Given the description of an element on the screen output the (x, y) to click on. 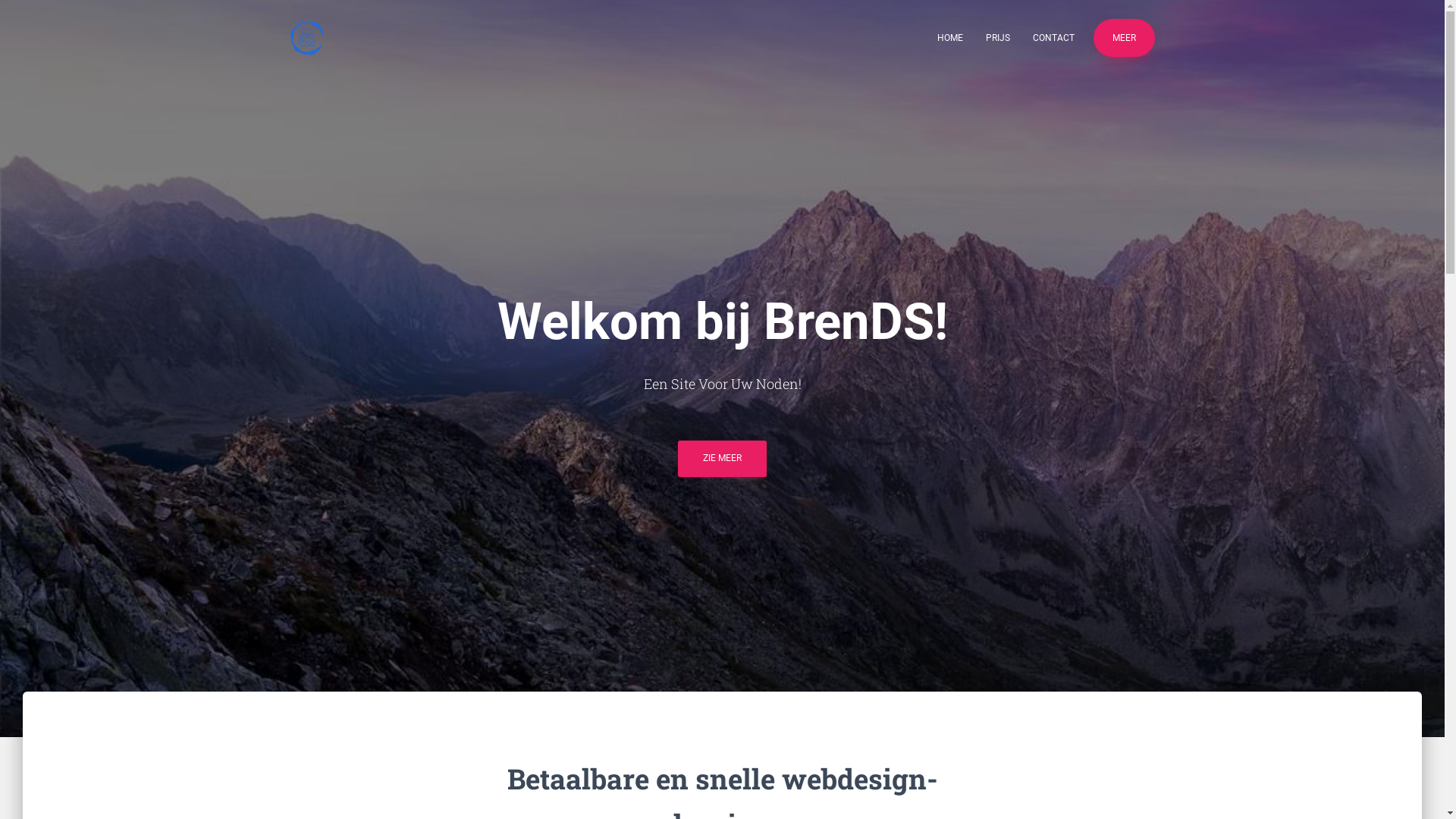
MEER Element type: text (1124, 37)
ZIE MEER Element type: text (721, 458)
HOME Element type: text (949, 37)
CONTACT Element type: text (1052, 37)
brends.be Element type: hover (307, 37)
PRIJS Element type: text (996, 37)
